Given the description of an element on the screen output the (x, y) to click on. 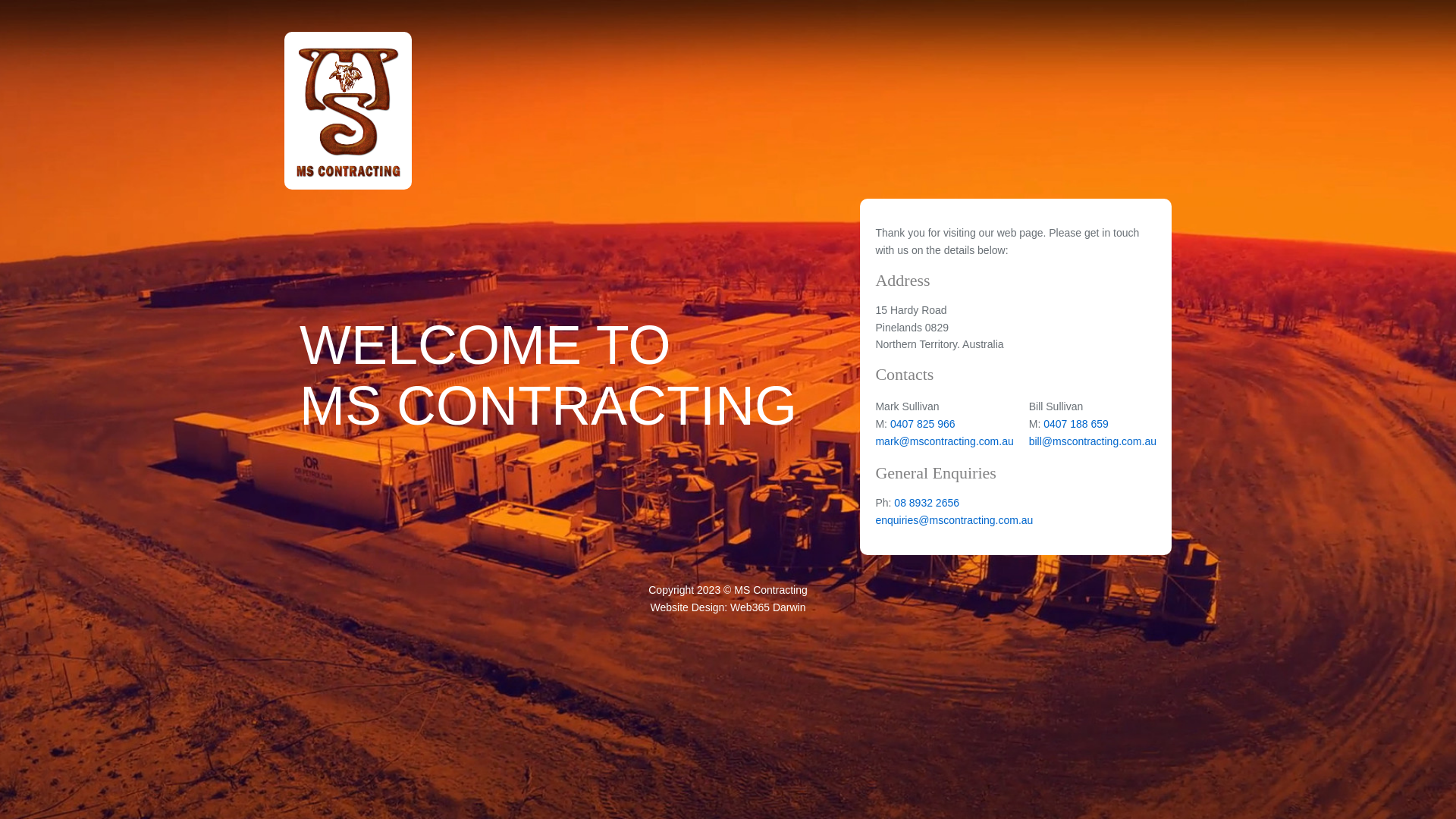
mark@mscontracting.com.au Element type: text (944, 441)
08 8932 2656 Element type: text (926, 502)
enquiries@mscontracting.com.au Element type: text (953, 520)
0407 188 659 Element type: text (1075, 423)
0407 825 966 Element type: text (922, 423)
Web365 Darwin Element type: text (767, 607)
bill@mscontracting.com.au Element type: text (1092, 441)
